Given the description of an element on the screen output the (x, y) to click on. 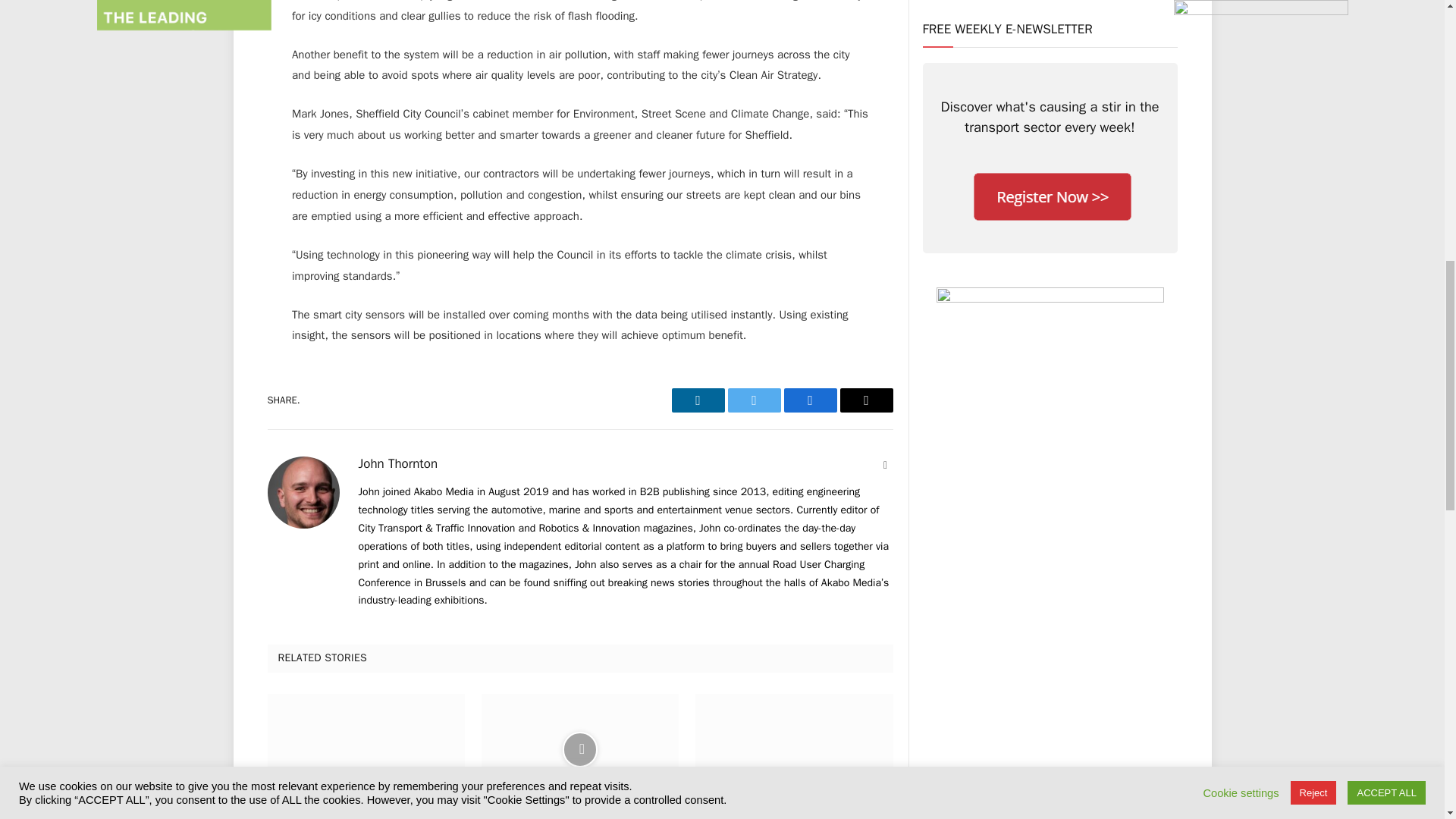
Share on LinkedIn (698, 400)
